Given the description of an element on the screen output the (x, y) to click on. 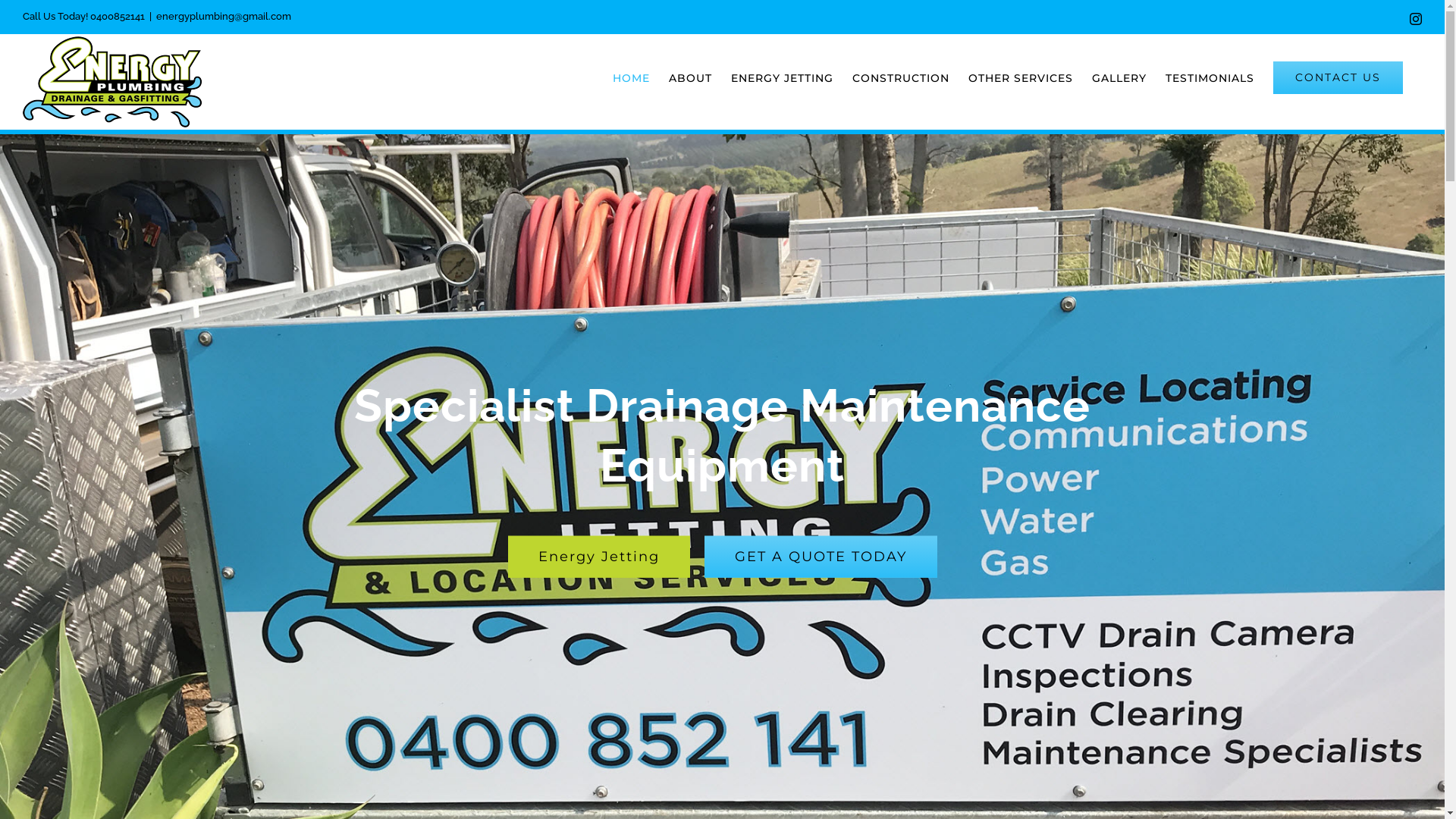
ENERGY JETTING Element type: text (782, 77)
HOME Element type: text (630, 77)
TESTIMONIALS Element type: text (1209, 77)
ABOUT Element type: text (690, 77)
GALLERY Element type: text (1119, 77)
GET A QUOTE TODAY Element type: text (819, 556)
Instagram Element type: text (1415, 18)
energyplumbing@gmail.com Element type: text (223, 15)
CONSTRUCTION Element type: text (900, 77)
CONTACT US Element type: text (1337, 77)
Energy Jetting Element type: text (599, 556)
OTHER SERVICES Element type: text (1020, 77)
